Given the description of an element on the screen output the (x, y) to click on. 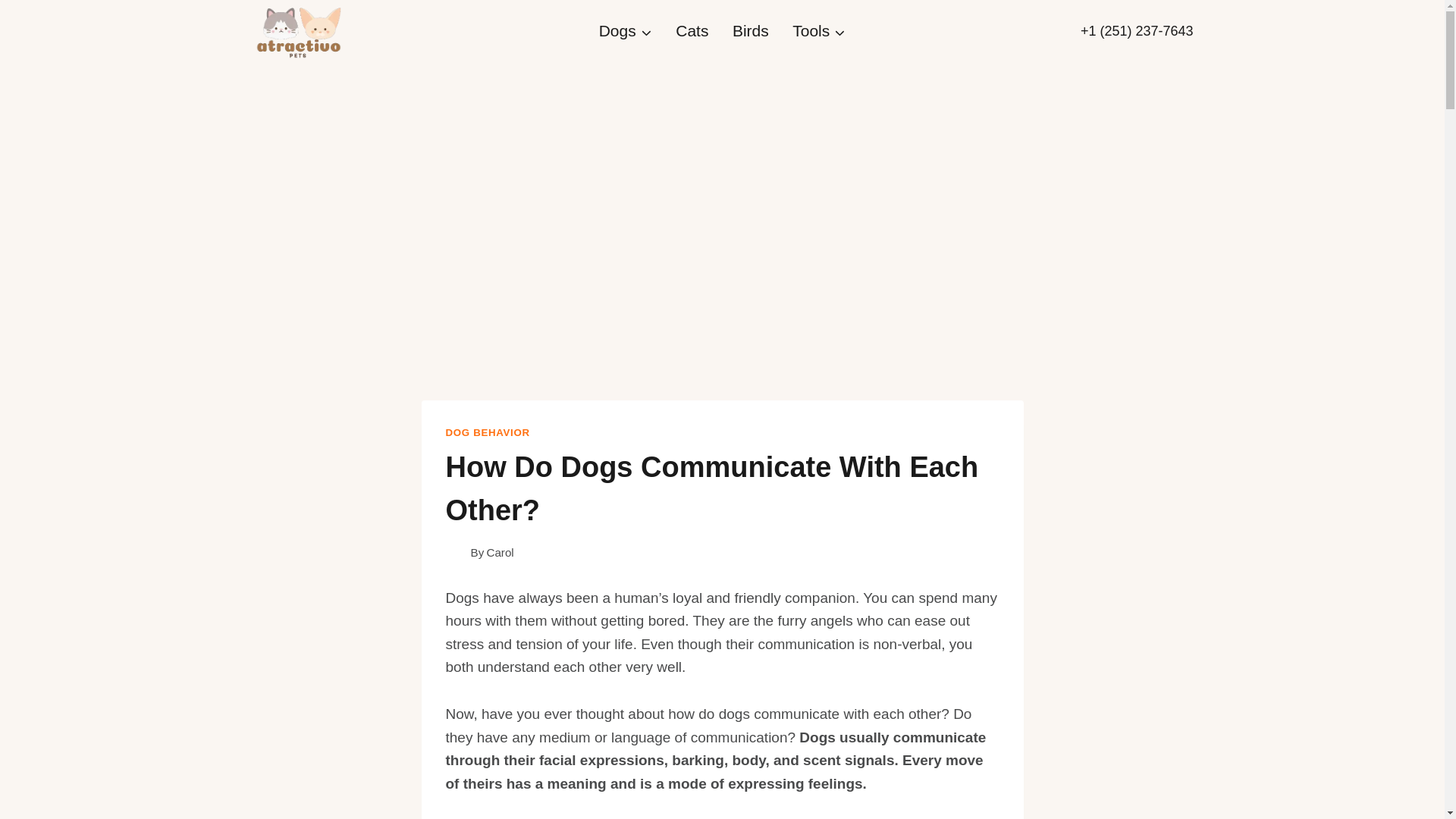
Dogs (624, 31)
Birds (750, 31)
DOG BEHAVIOR (487, 432)
Cats (691, 31)
Tools (819, 31)
